Given the description of an element on the screen output the (x, y) to click on. 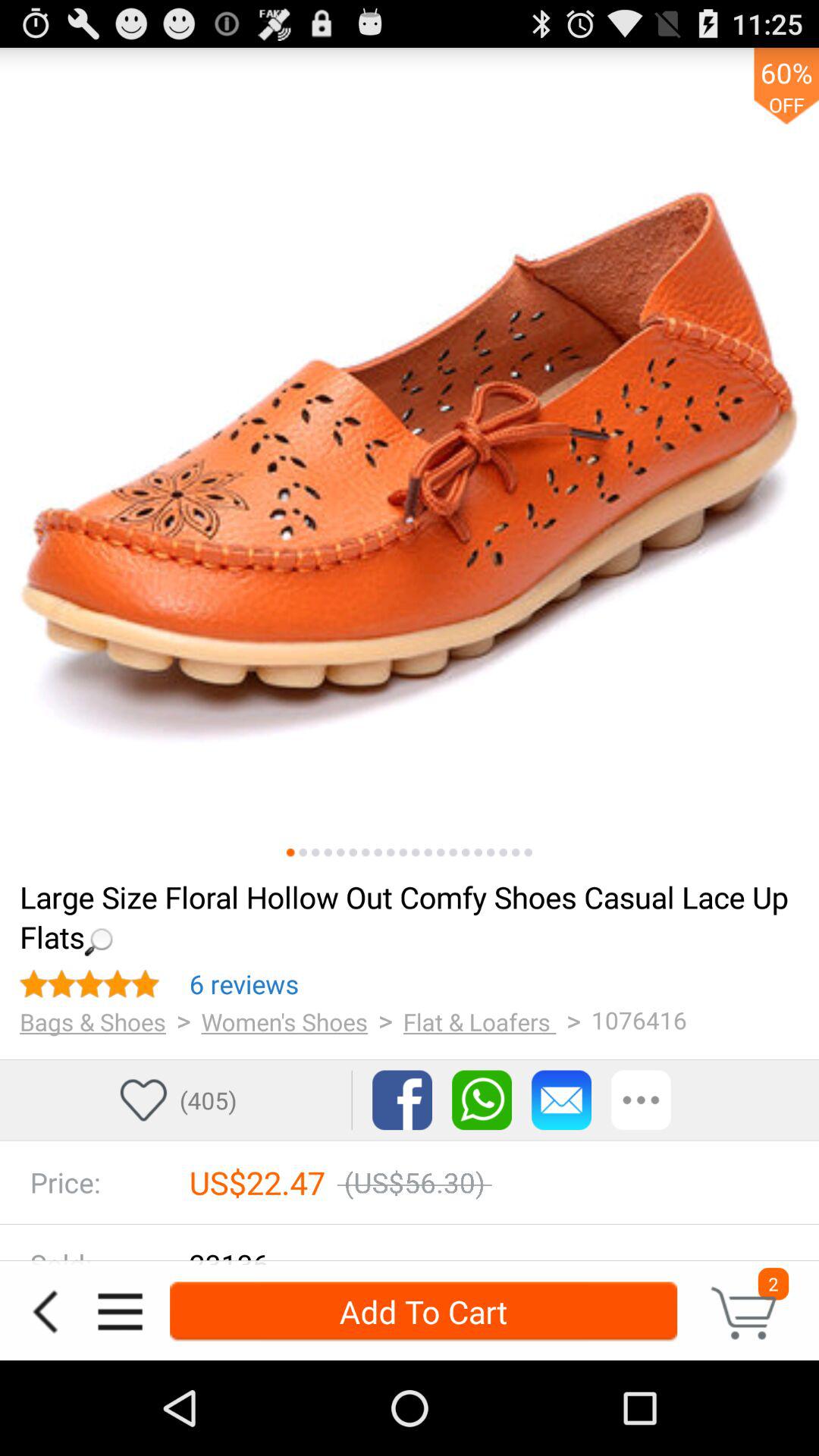
view next image (290, 852)
